Given the description of an element on the screen output the (x, y) to click on. 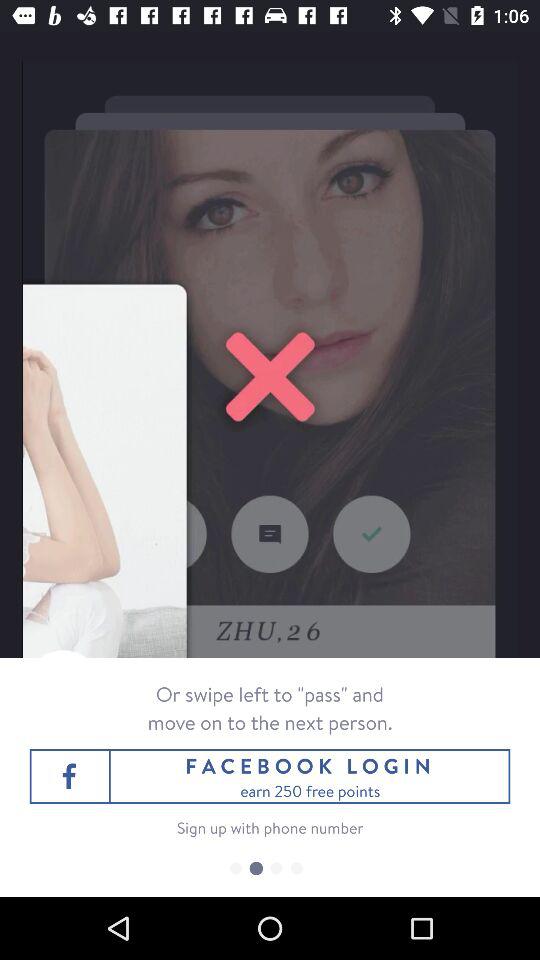
jump to the sign up with item (269, 827)
